Given the description of an element on the screen output the (x, y) to click on. 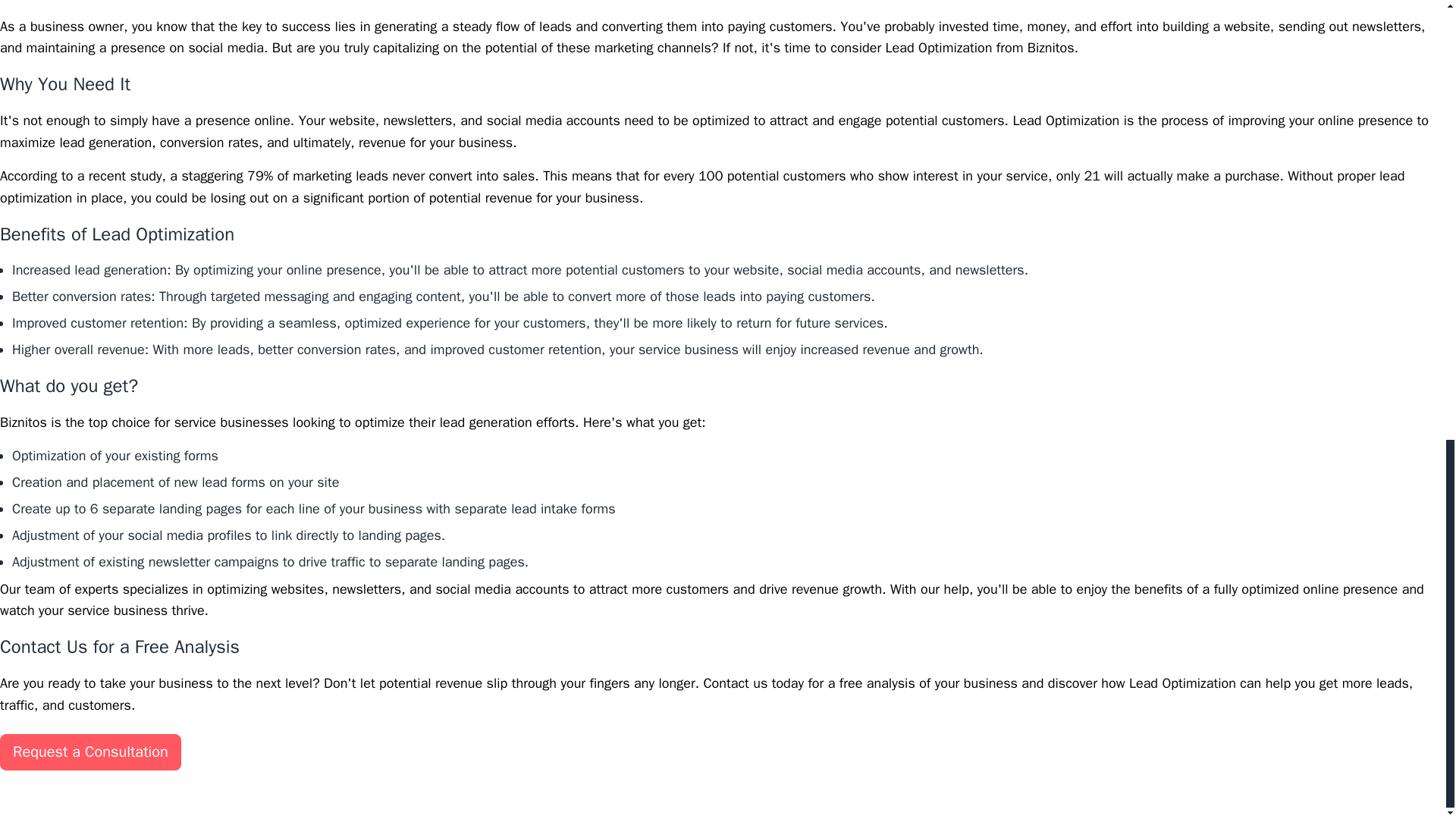
Request a Consultation (90, 751)
